Given the description of an element on the screen output the (x, y) to click on. 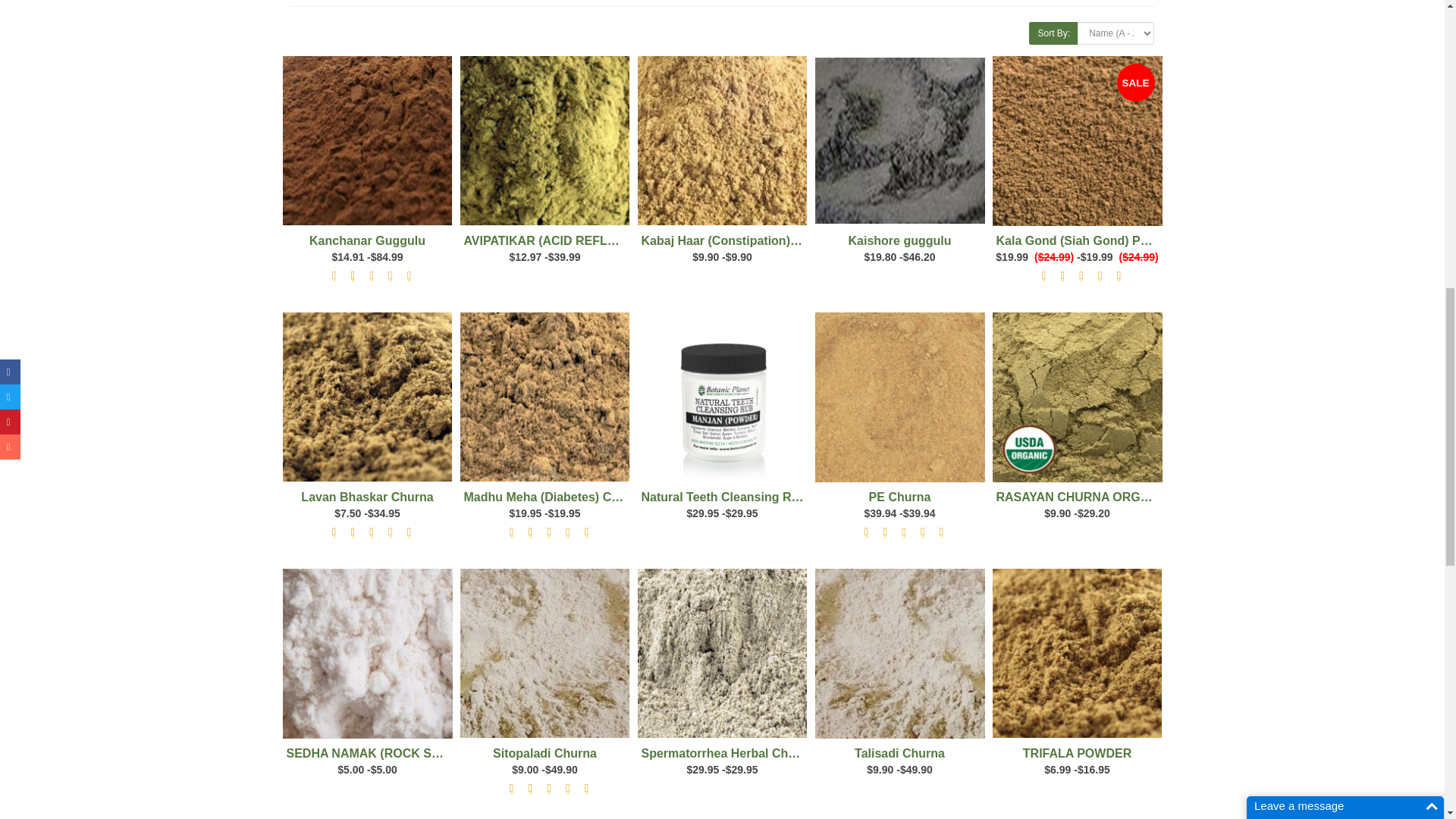
RASAYAN CHURNA ORGANIC (1076, 397)
Spermatorrhea Herbal Churan (721, 653)
Natural Teeth Cleansing Rub (721, 397)
Kaishore guggulu (898, 141)
Sitopaladi Churna (544, 653)
Talisadi Churna (898, 653)
Lavan Bhaskar Churna (366, 397)
PE Churna (898, 397)
 Kanchanar Guggulu  (366, 141)
